Given the description of an element on the screen output the (x, y) to click on. 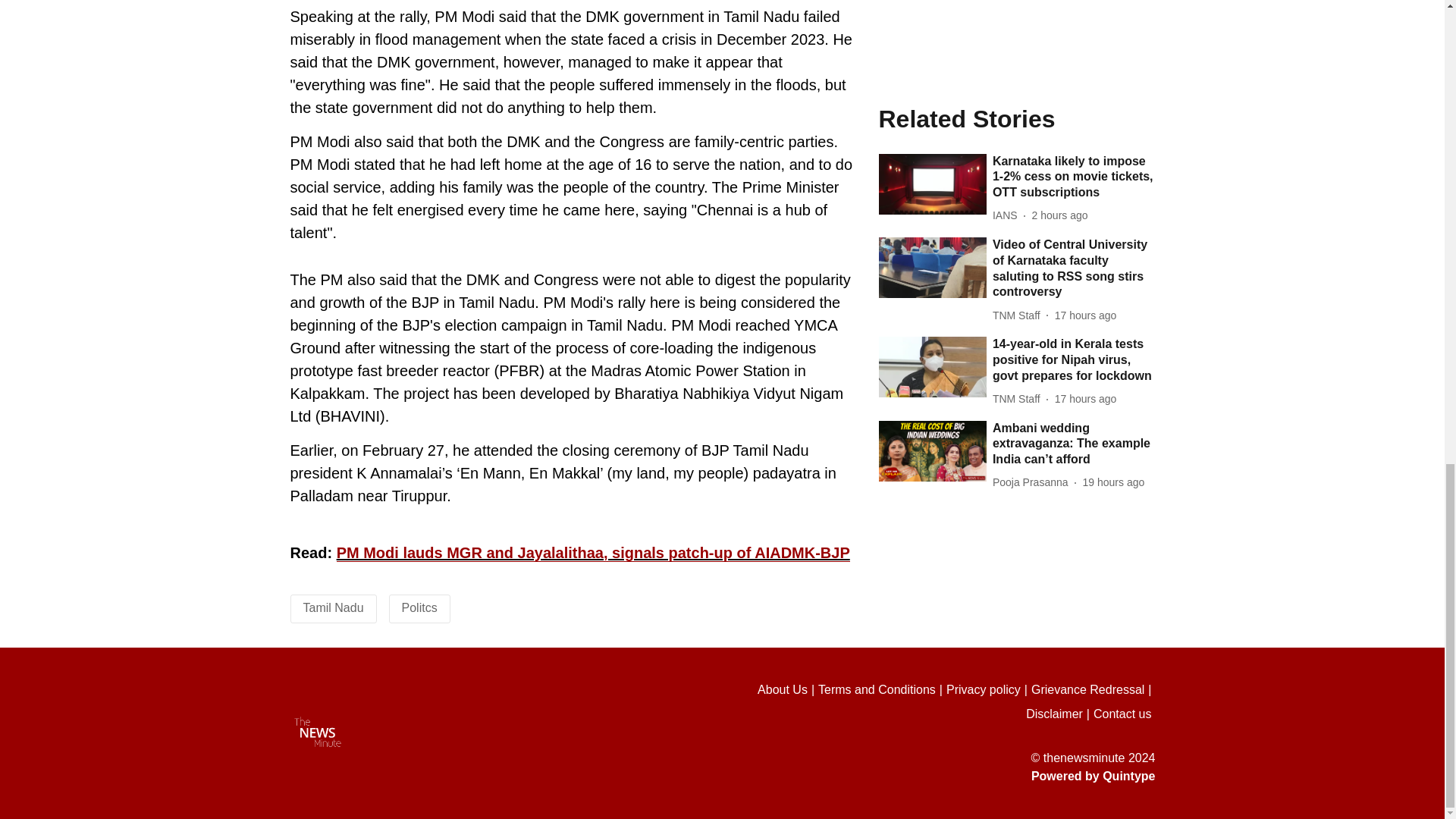
Tamil Nadu (333, 607)
Politcs (419, 607)
About Us (787, 689)
